Given the description of an element on the screen output the (x, y) to click on. 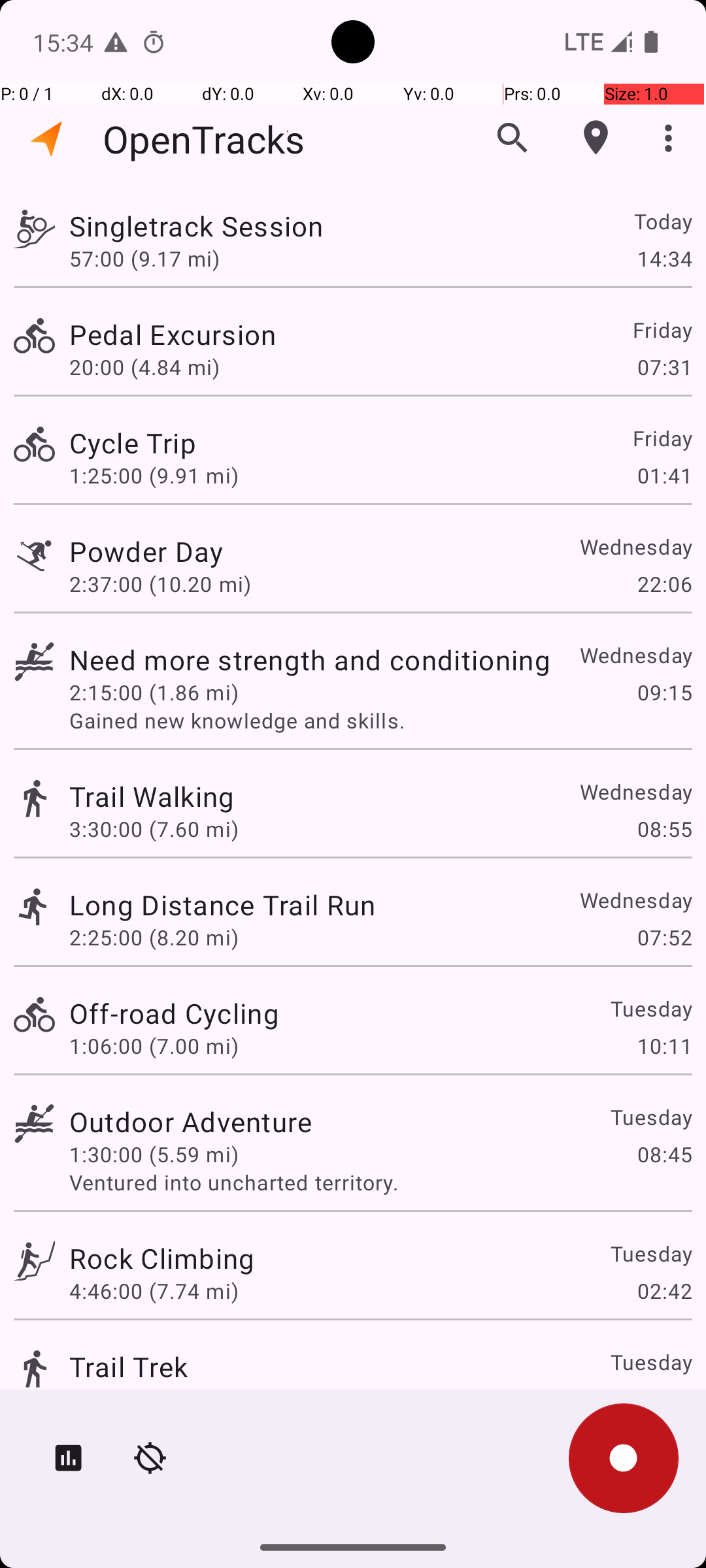
Singletrack Session Element type: android.widget.TextView (196, 225)
57:00 (9.17 mi) Element type: android.widget.TextView (144, 258)
14:34 Element type: android.widget.TextView (664, 258)
Pedal Excursion Element type: android.widget.TextView (172, 333)
20:00 (4.84 mi) Element type: android.widget.TextView (144, 366)
07:31 Element type: android.widget.TextView (664, 366)
Cycle Trip Element type: android.widget.TextView (132, 442)
1:25:00 (9.91 mi) Element type: android.widget.TextView (153, 475)
01:41 Element type: android.widget.TextView (664, 475)
Powder Day Element type: android.widget.TextView (145, 550)
2:37:00 (10.20 mi) Element type: android.widget.TextView (159, 583)
22:06 Element type: android.widget.TextView (664, 583)
Need more strength and conditioning Element type: android.widget.TextView (309, 659)
2:15:00 (1.86 mi) Element type: android.widget.TextView (153, 692)
09:15 Element type: android.widget.TextView (664, 692)
Gained new knowledge and skills. Element type: android.widget.TextView (380, 720)
Trail Walking Element type: android.widget.TextView (151, 795)
3:30:00 (7.60 mi) Element type: android.widget.TextView (153, 828)
08:55 Element type: android.widget.TextView (664, 828)
Long Distance Trail Run Element type: android.widget.TextView (221, 904)
2:25:00 (8.20 mi) Element type: android.widget.TextView (153, 937)
07:52 Element type: android.widget.TextView (664, 937)
Off-road Cycling Element type: android.widget.TextView (173, 1012)
1:06:00 (7.00 mi) Element type: android.widget.TextView (153, 1045)
10:11 Element type: android.widget.TextView (664, 1045)
Outdoor Adventure Element type: android.widget.TextView (190, 1121)
1:30:00 (5.59 mi) Element type: android.widget.TextView (153, 1154)
08:45 Element type: android.widget.TextView (664, 1154)
Ventured into uncharted territory. Element type: android.widget.TextView (380, 1182)
Rock Climbing Element type: android.widget.TextView (161, 1257)
4:46:00 (7.74 mi) Element type: android.widget.TextView (153, 1290)
02:42 Element type: android.widget.TextView (664, 1290)
Trail Trek Element type: android.widget.TextView (128, 1366)
3:47:00 (2.90 mi) Element type: android.widget.TextView (153, 1399)
00:53 Element type: android.widget.TextView (664, 1399)
